Given the description of an element on the screen output the (x, y) to click on. 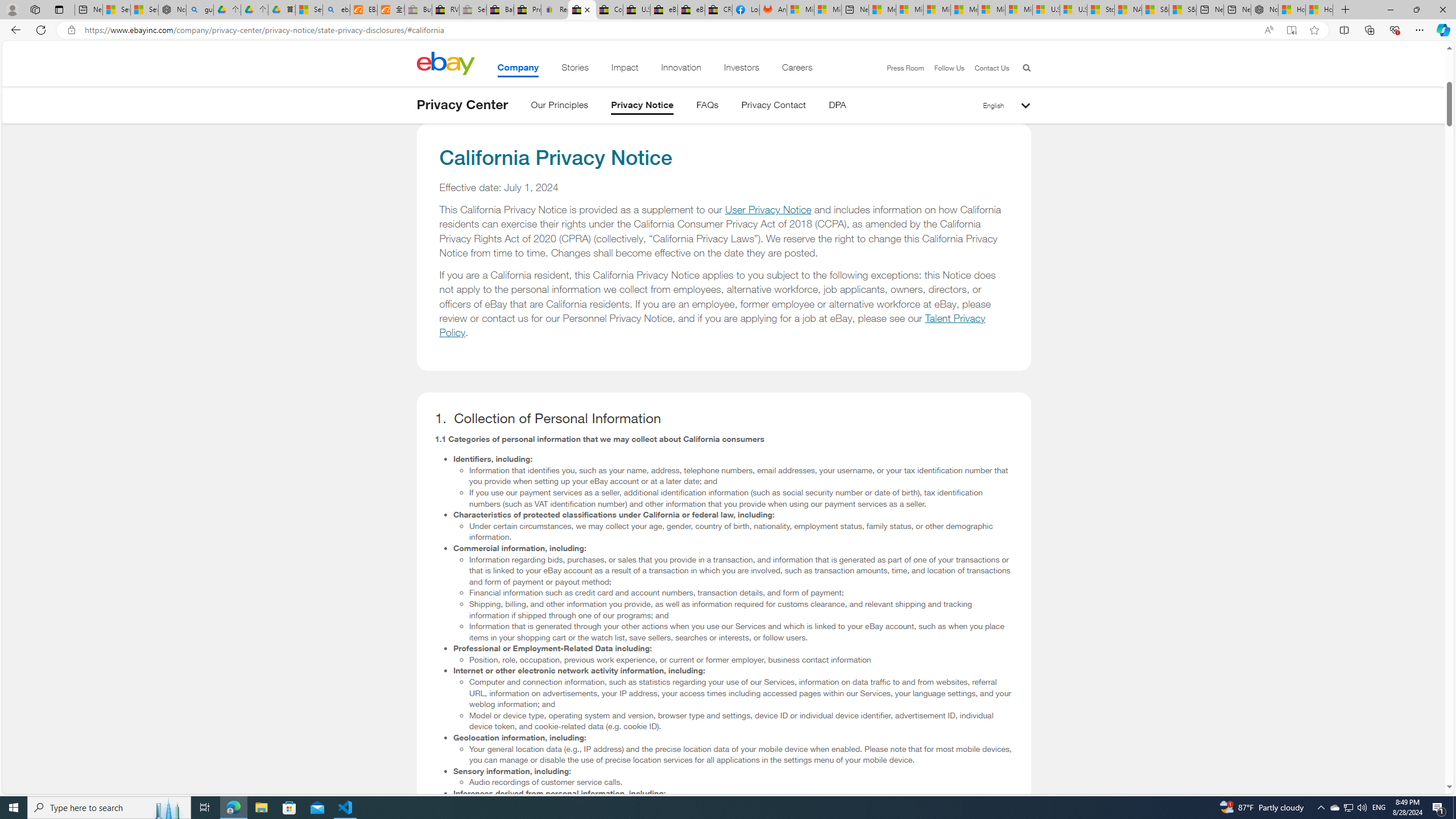
Buy Auto Parts & Accessories | eBay - Sleeping (418, 9)
Audio recordings of customer service calls. (740, 781)
Log into Facebook (746, 9)
Privacy Center (462, 104)
FAQs (707, 107)
